Given the description of an element on the screen output the (x, y) to click on. 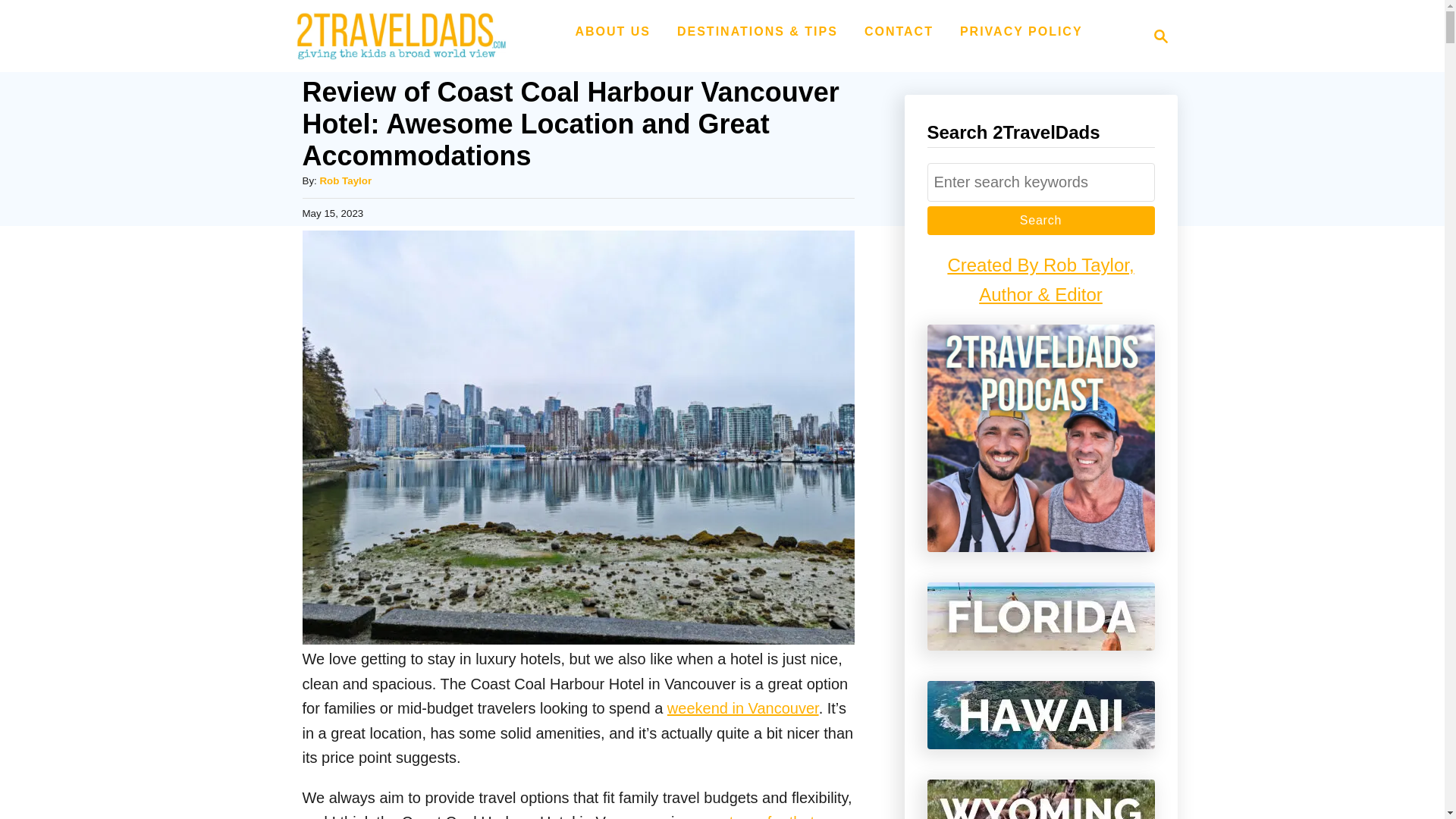
Search (1040, 220)
Search (1040, 220)
2TravelDads (395, 35)
ABOUT US (612, 31)
Magnifying Glass (1160, 36)
